Given the description of an element on the screen output the (x, y) to click on. 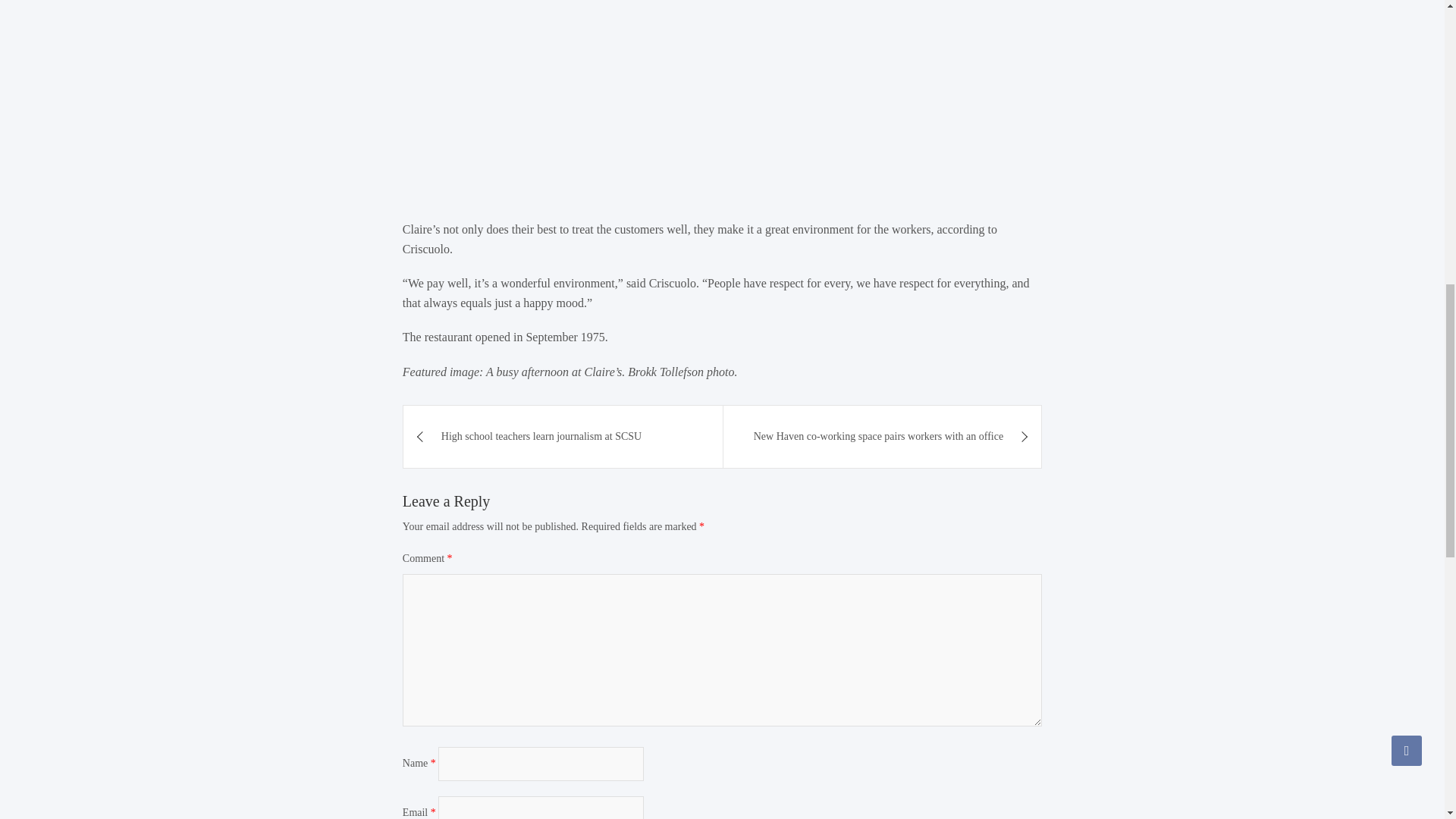
High school teachers learn journalism at SCSU (562, 436)
New Haven co-working space pairs workers with an office (882, 436)
